Given the description of an element on the screen output the (x, y) to click on. 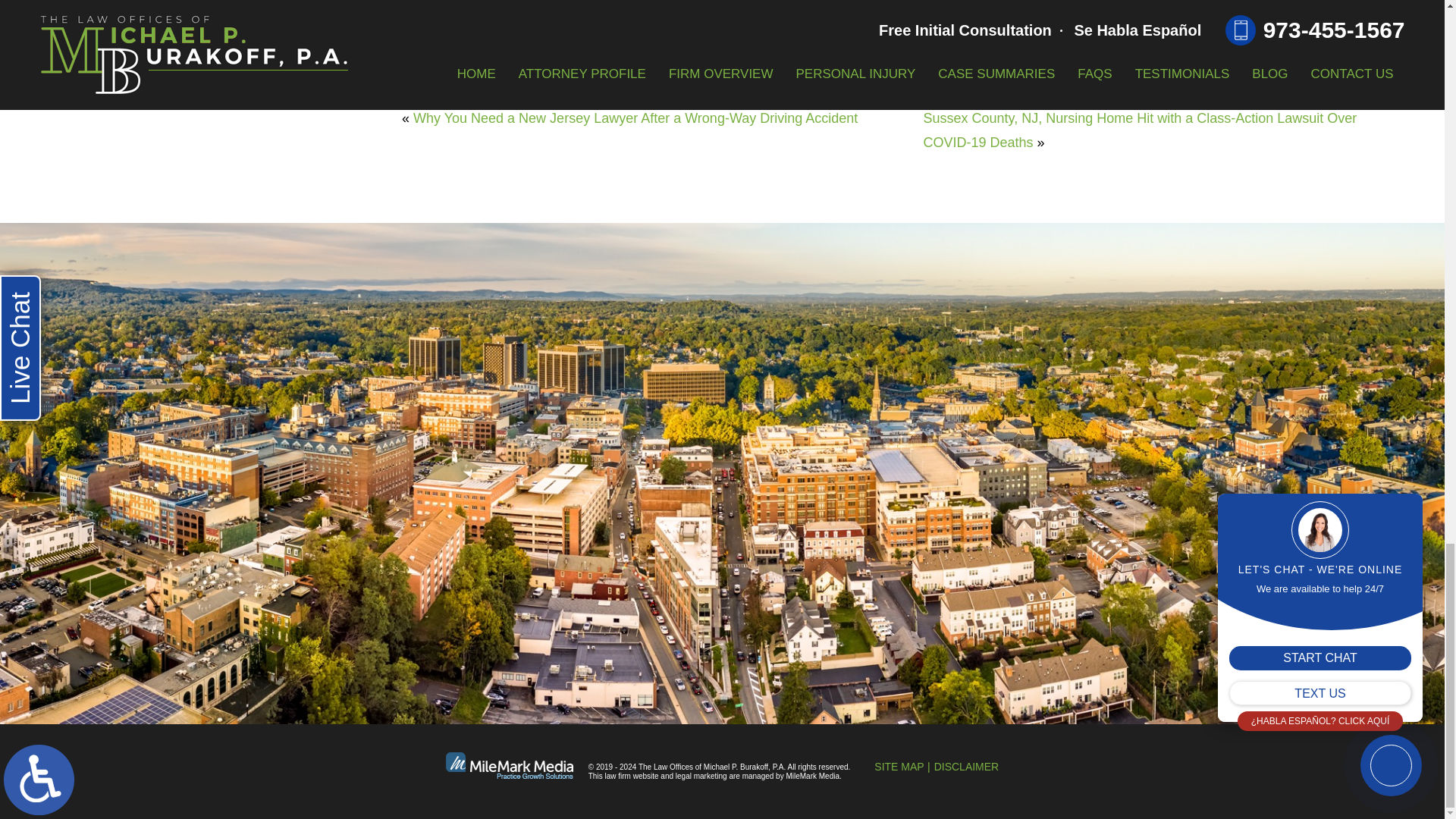
2020-06-18T03:00:11-0700 (631, 86)
LinkedIn (447, 54)
Facebook (425, 54)
Twitter (436, 54)
